Given the description of an element on the screen output the (x, y) to click on. 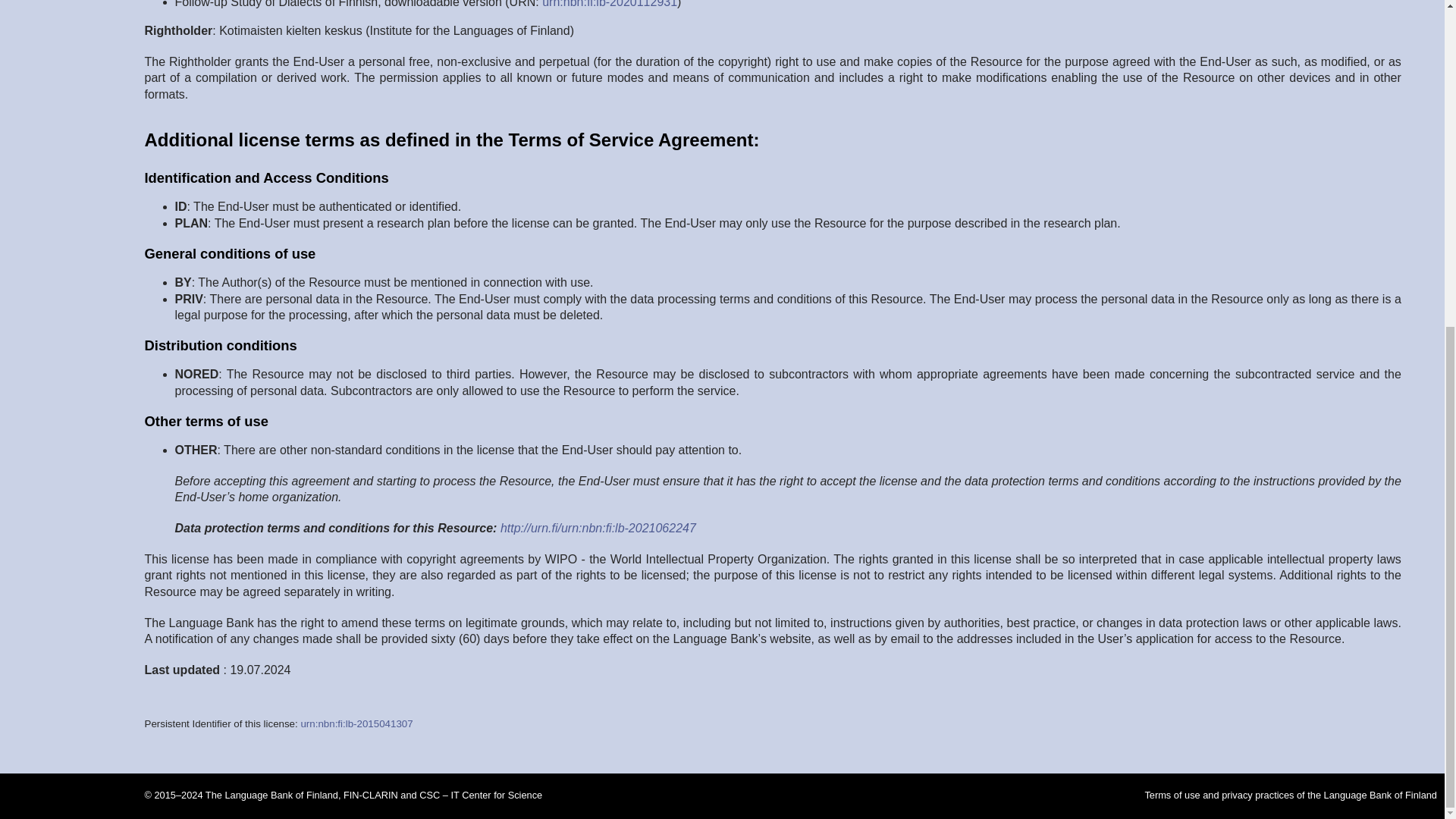
urn:nbn:fi:lb-2020112931 (609, 4)
urn:nbn:fi:lb-2015041307 (355, 723)
